Given the description of an element on the screen output the (x, y) to click on. 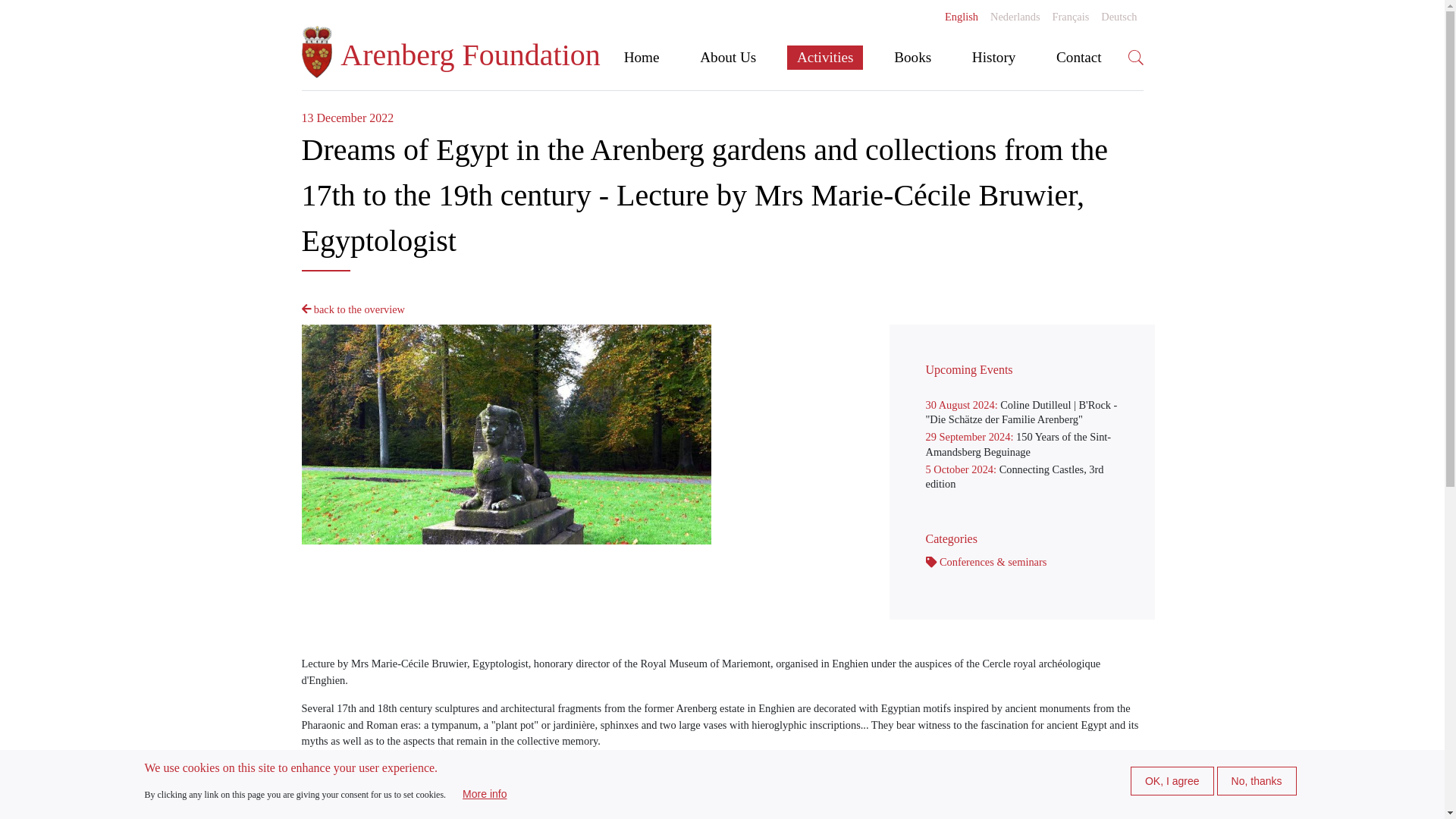
OK, I agree (1172, 780)
More info (483, 793)
Arenberg Foundation (450, 57)
Home (450, 57)
back to the overview (352, 309)
Nederlands (1015, 16)
English (961, 16)
History (993, 57)
Home (641, 57)
Activities (825, 57)
